Given the description of an element on the screen output the (x, y) to click on. 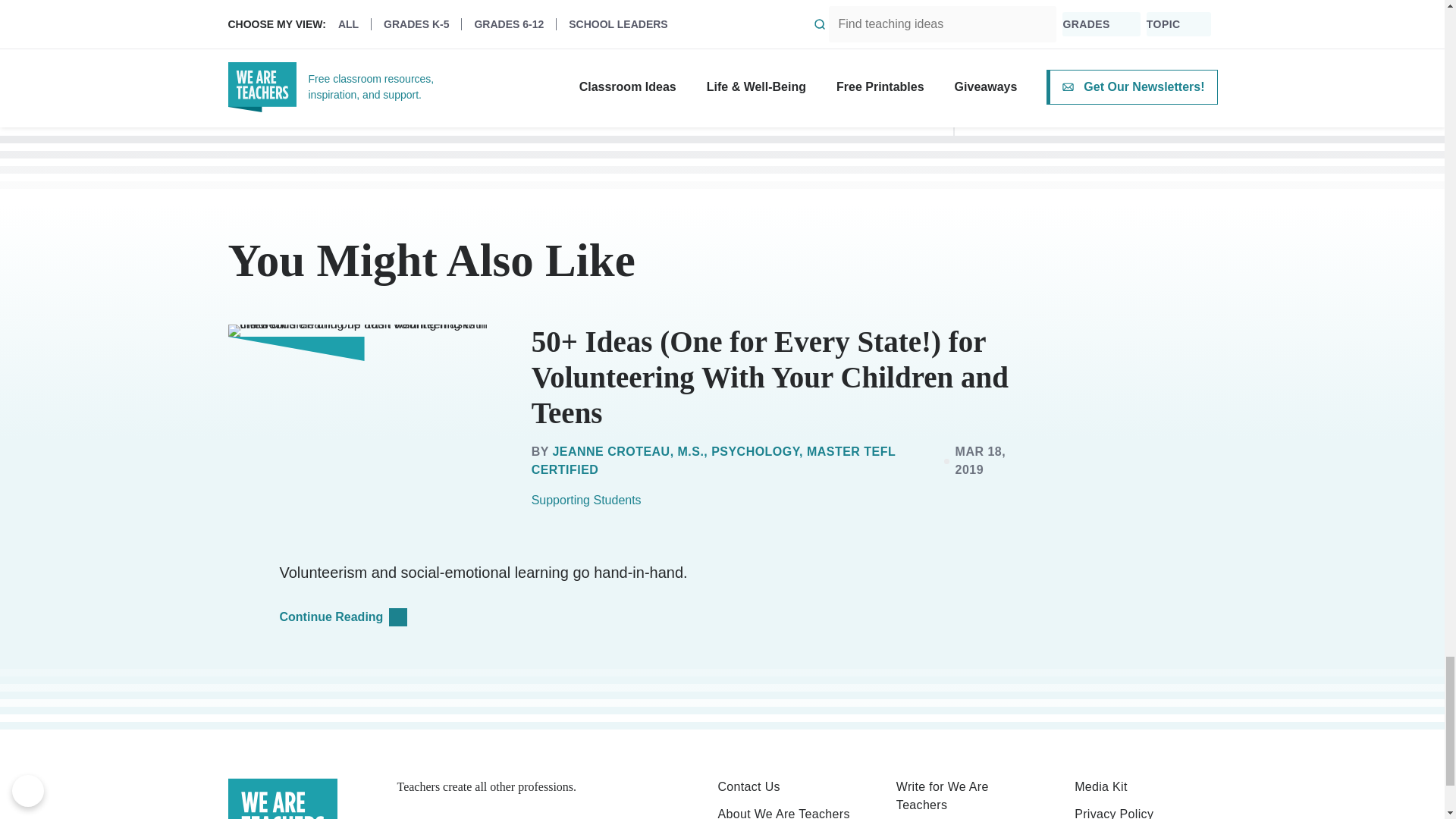
Supporting Students (586, 500)
Contact Us (788, 787)
Continue Reading (349, 617)
JEANNE CROTEAU, M.S., PSYCHOLOGY, MASTER TEFL CERTIFIED (713, 460)
